Given the description of an element on the screen output the (x, y) to click on. 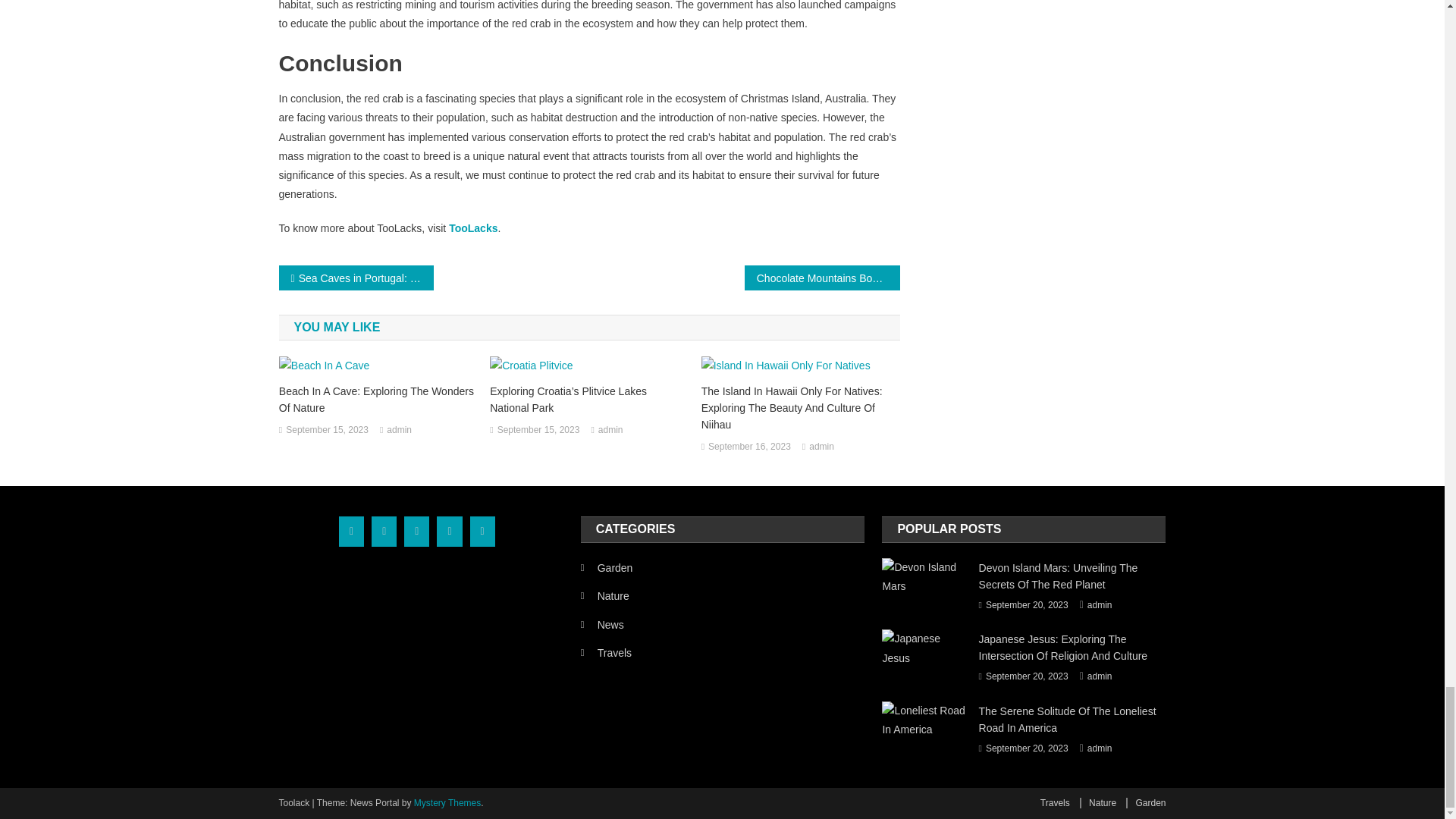
admin (399, 430)
Sea Caves in Portugal: Exploring the Hidden Gems (356, 277)
admin (610, 430)
Chocolate Mountains Bohol: A Natural Wonder (821, 277)
Beach In A Cave: Exploring The Wonders Of Nature (378, 399)
September 15, 2023 (326, 430)
September 15, 2023 (538, 430)
admin (821, 446)
September 16, 2023 (748, 446)
